Given the description of an element on the screen output the (x, y) to click on. 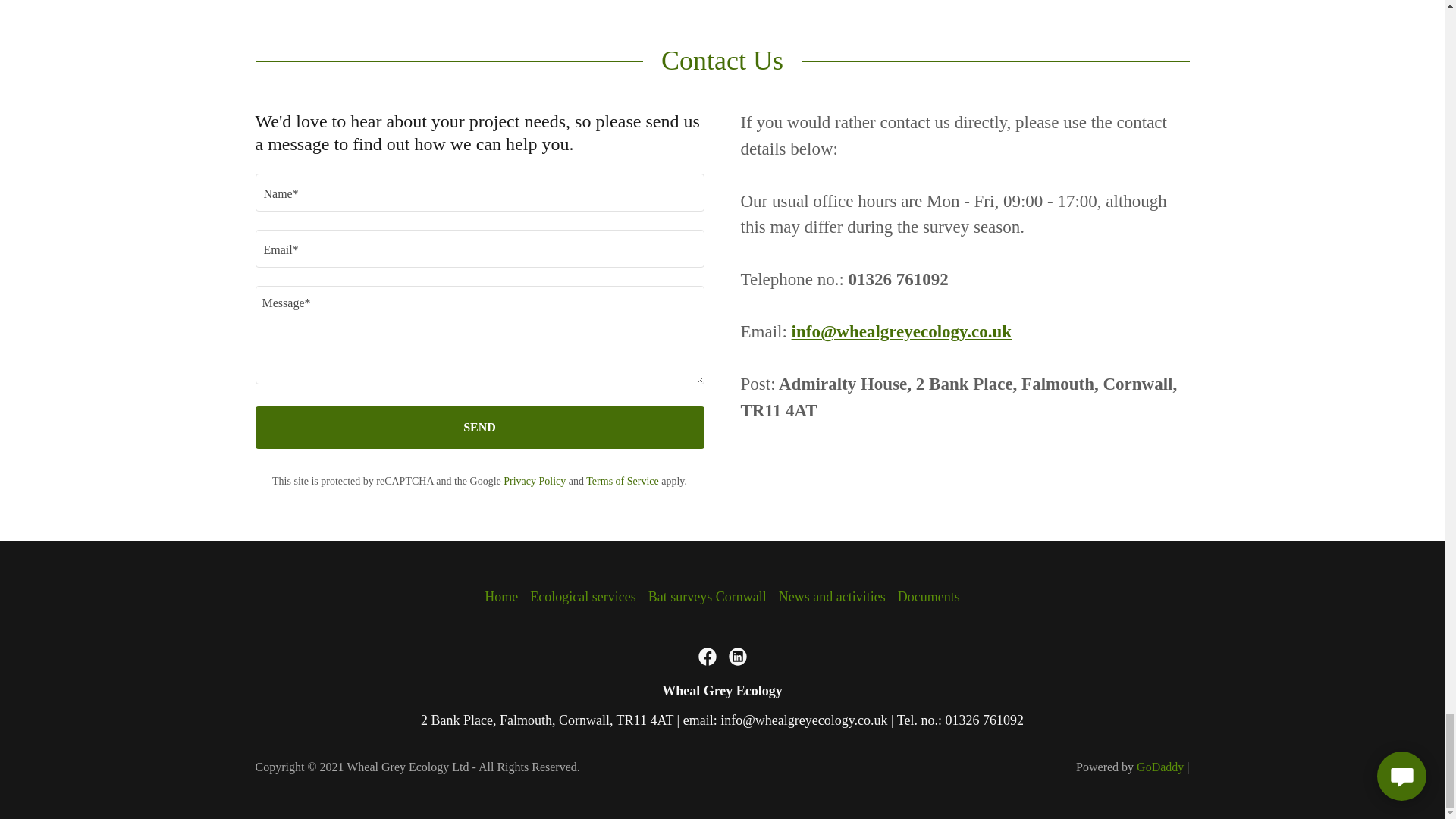
News and activities (832, 596)
Bat surveys Cornwall (707, 596)
SEND (478, 427)
Ecological services (583, 596)
Documents (928, 596)
Terms of Service (622, 480)
Home (501, 596)
Privacy Policy (534, 480)
GoDaddy (1160, 766)
